Given the description of an element on the screen output the (x, y) to click on. 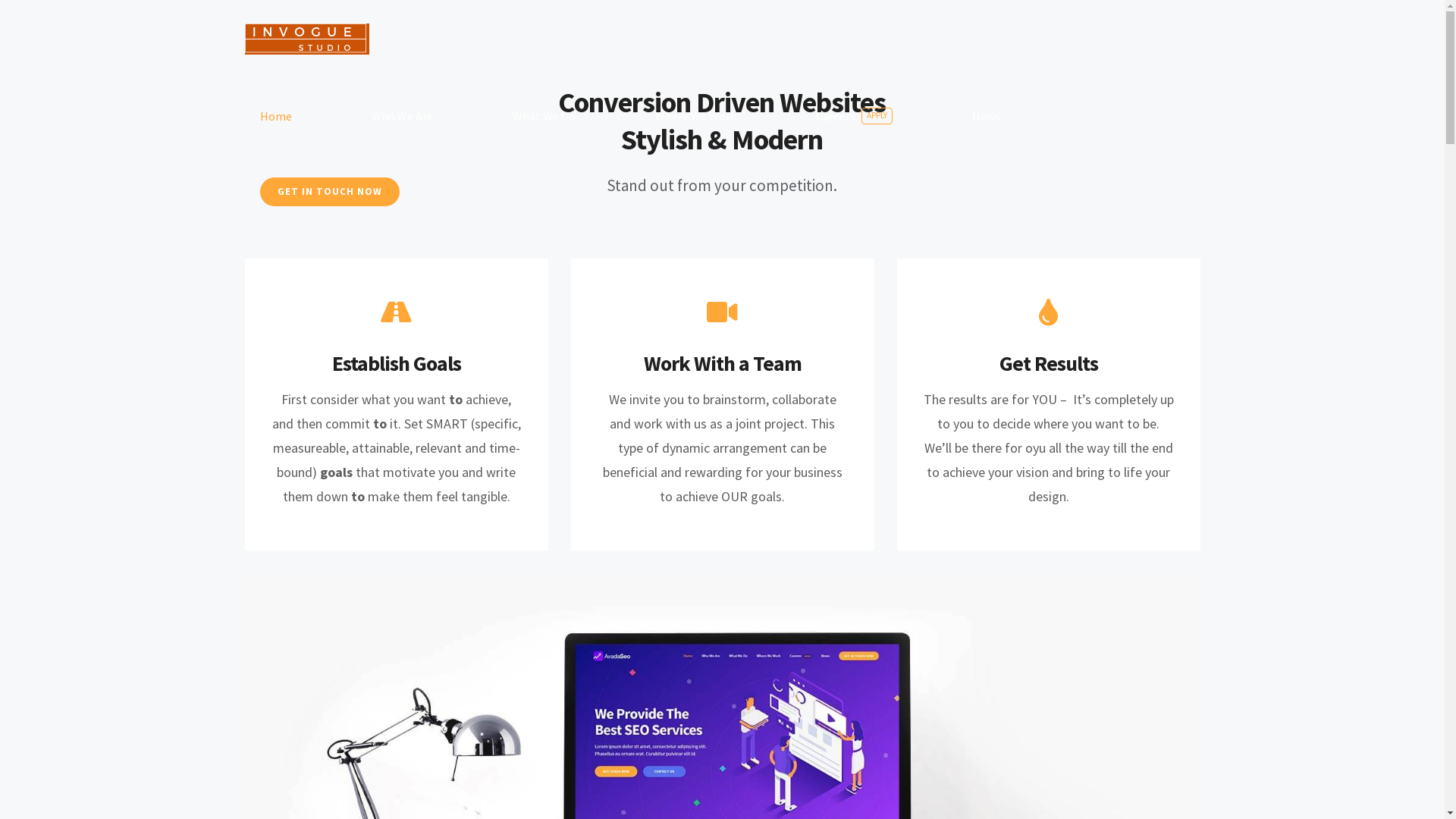
Where We Work Element type: text (735, 680)
Instagram Element type: text (767, 780)
YouTube Element type: text (736, 780)
News Element type: text (986, 115)
Home Element type: text (486, 680)
Twitter Element type: text (706, 780)
News Element type: text (881, 680)
What We Do Element type: text (642, 680)
Home Element type: text (275, 115)
Careers Element type: text (820, 680)
GET IN TOUCH NOW Element type: text (329, 191)
What We Do Element type: text (543, 115)
Where We Work Element type: text (695, 115)
ThemeFusion Element type: text (703, 741)
Facebook Element type: text (676, 780)
Who We Are Element type: text (557, 680)
Who We Are Element type: text (402, 115)
Careers
APPLY Element type: text (854, 115)
Get In Touch Now Element type: text (946, 680)
WordPress Element type: text (912, 741)
